Given the description of an element on the screen output the (x, y) to click on. 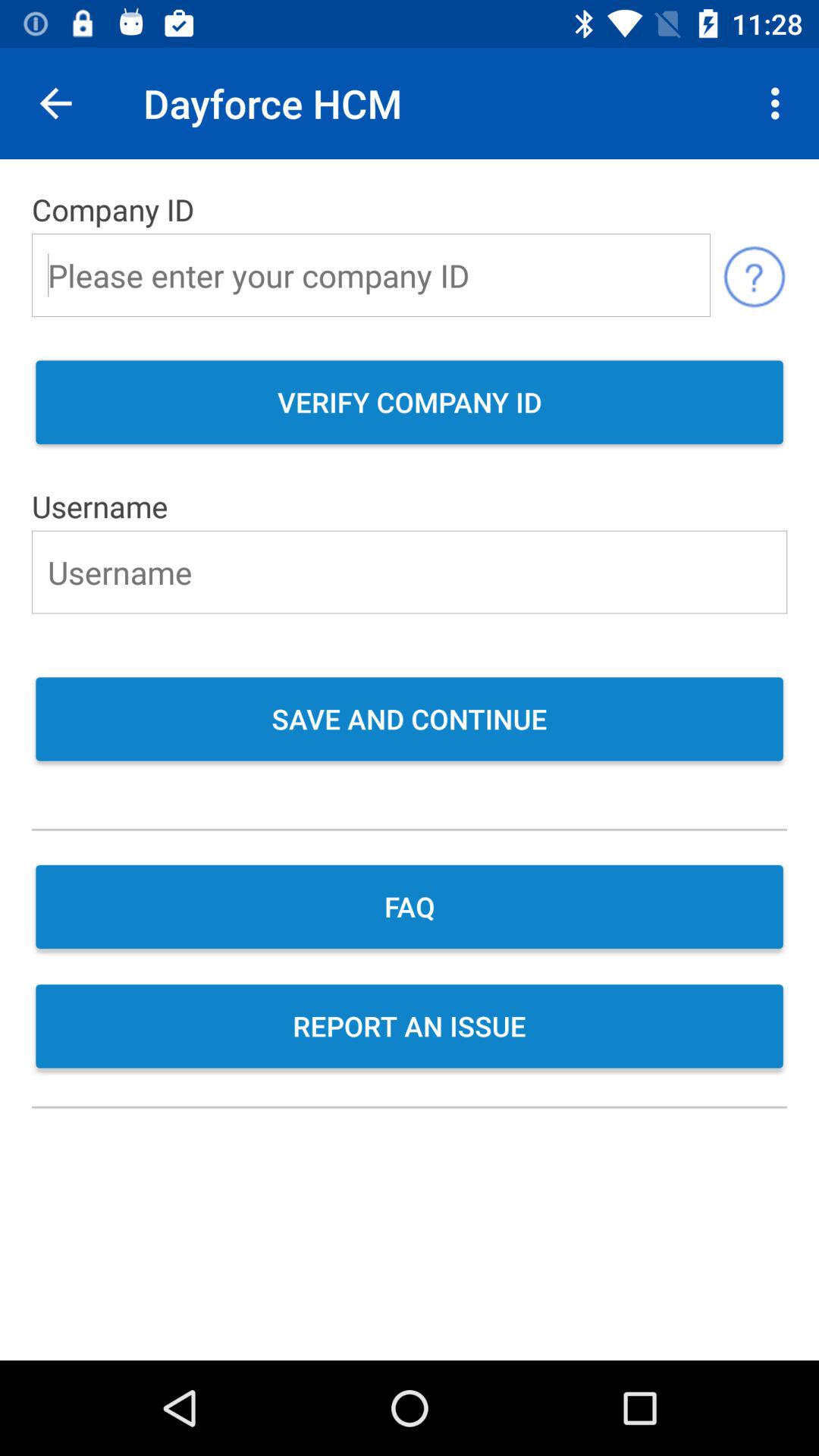
the textbox included the data from the user (409, 571)
